Given the description of an element on the screen output the (x, y) to click on. 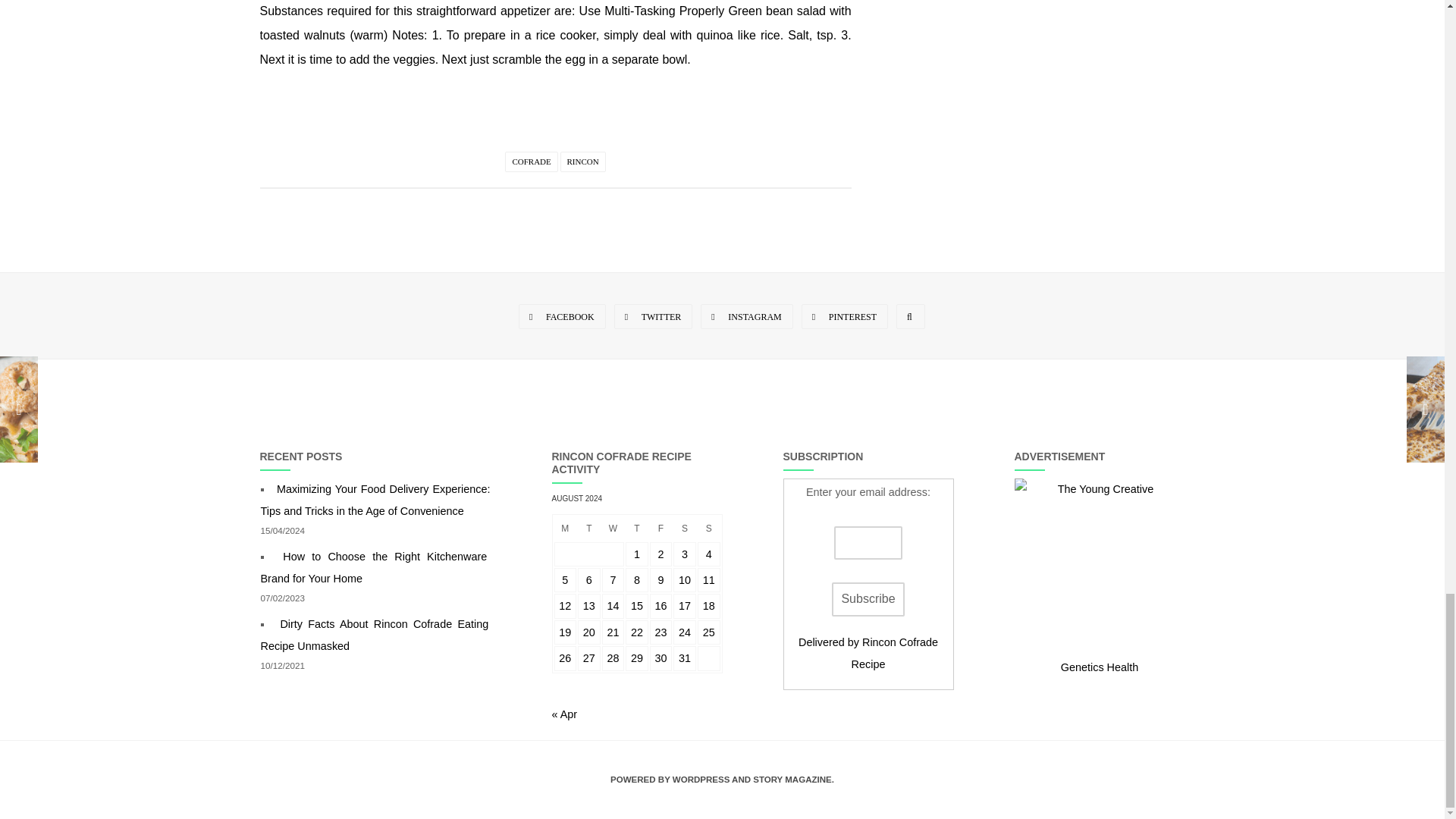
COFRADE (531, 161)
RINCON (582, 161)
Subscribe (868, 599)
